Given the description of an element on the screen output the (x, y) to click on. 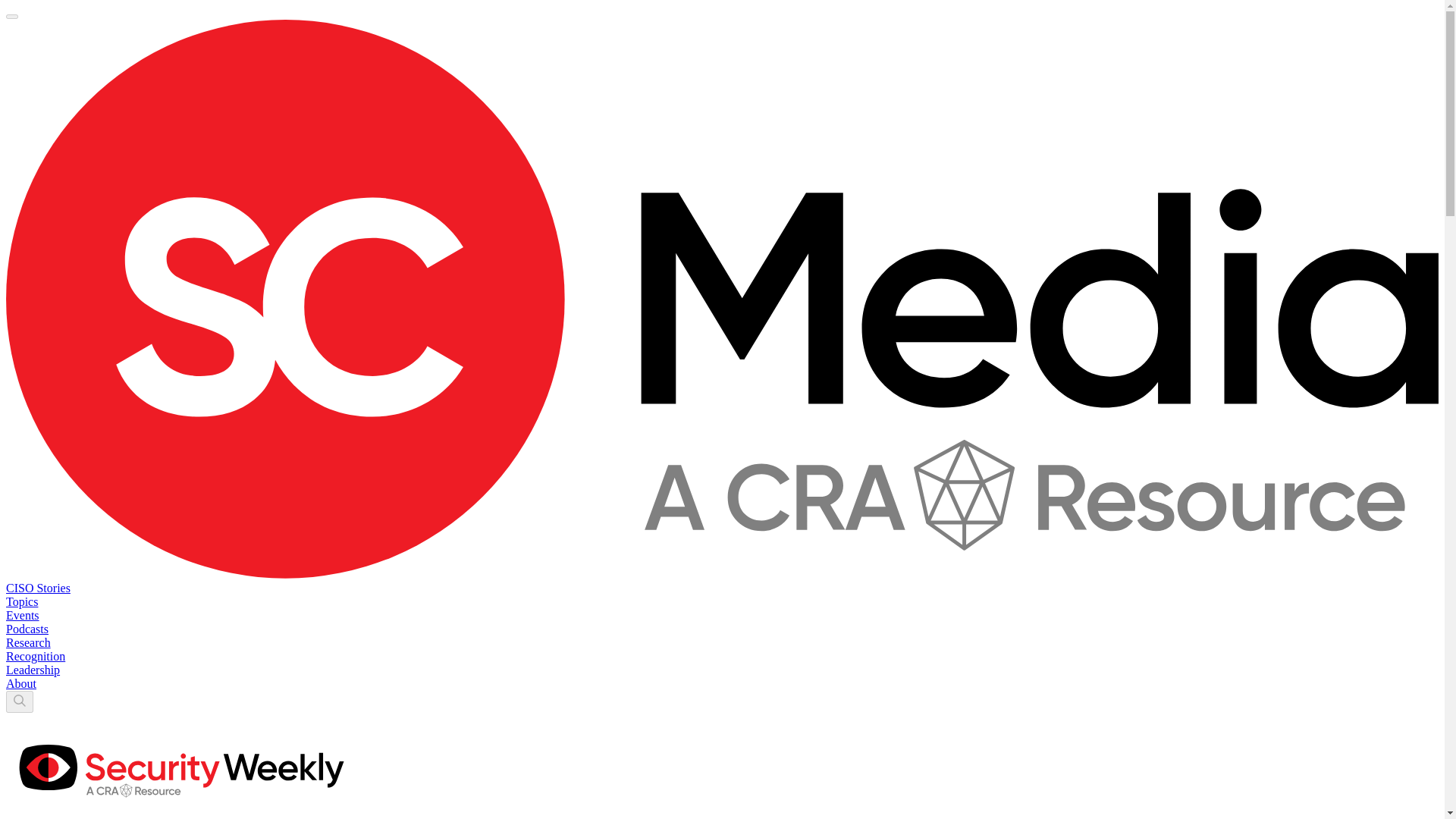
Topics (21, 601)
Events (22, 615)
Recognition (35, 656)
CISO Stories (37, 587)
Podcasts (26, 628)
Research (27, 642)
Leadership (32, 669)
About (20, 683)
